Given the description of an element on the screen output the (x, y) to click on. 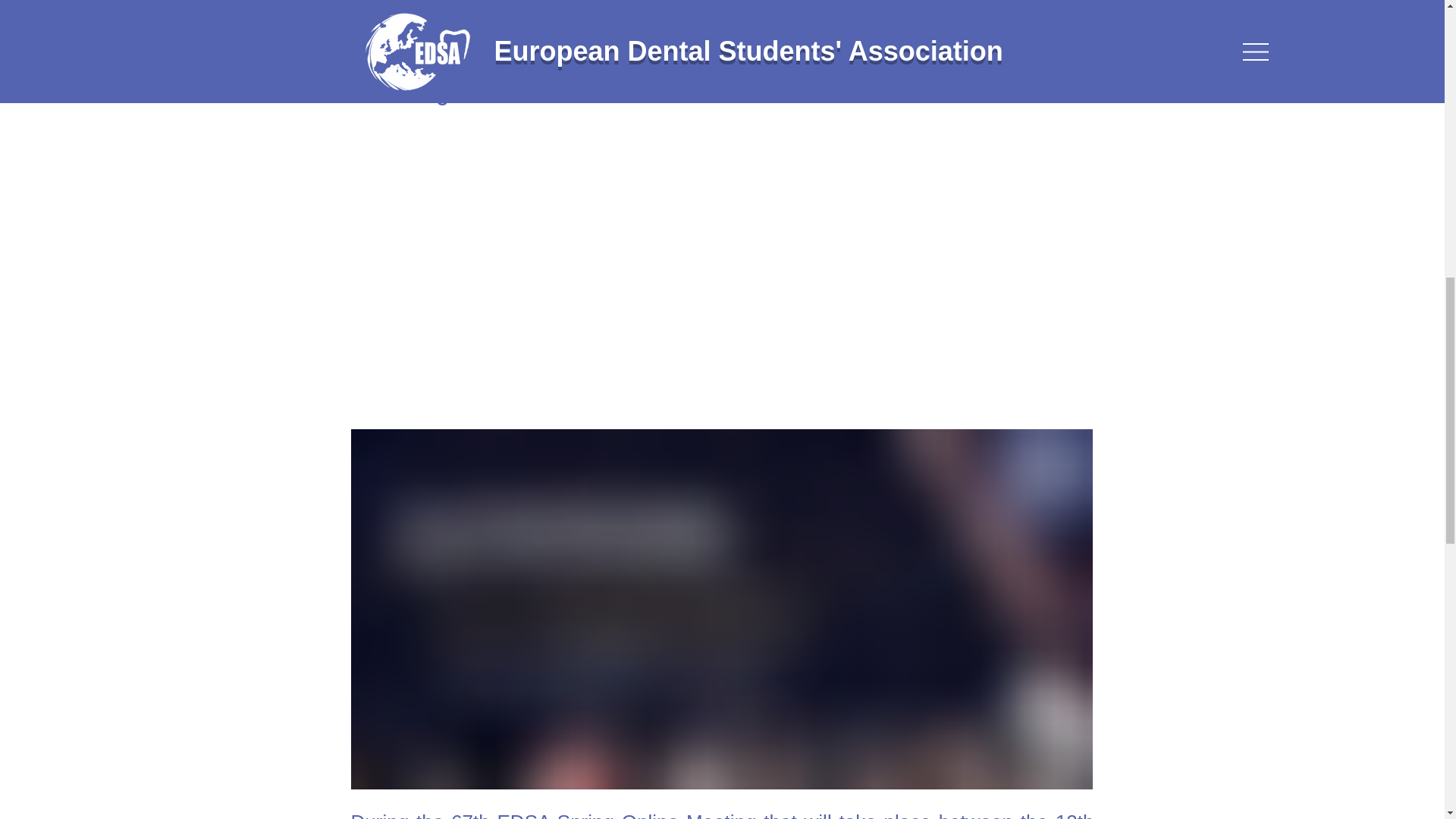
Motivation (452, 305)
Curaden (445, 6)
Public Speaking (477, 188)
Policy Training (471, 235)
Interprofessional Education (526, 164)
Teamwork (451, 141)
How To Start a Magazine (517, 282)
Social Media Strategy (502, 118)
botiss (432, 47)
Equality, Diversity and Inclusion (545, 211)
Research - Critical Analysis (526, 259)
